Given the description of an element on the screen output the (x, y) to click on. 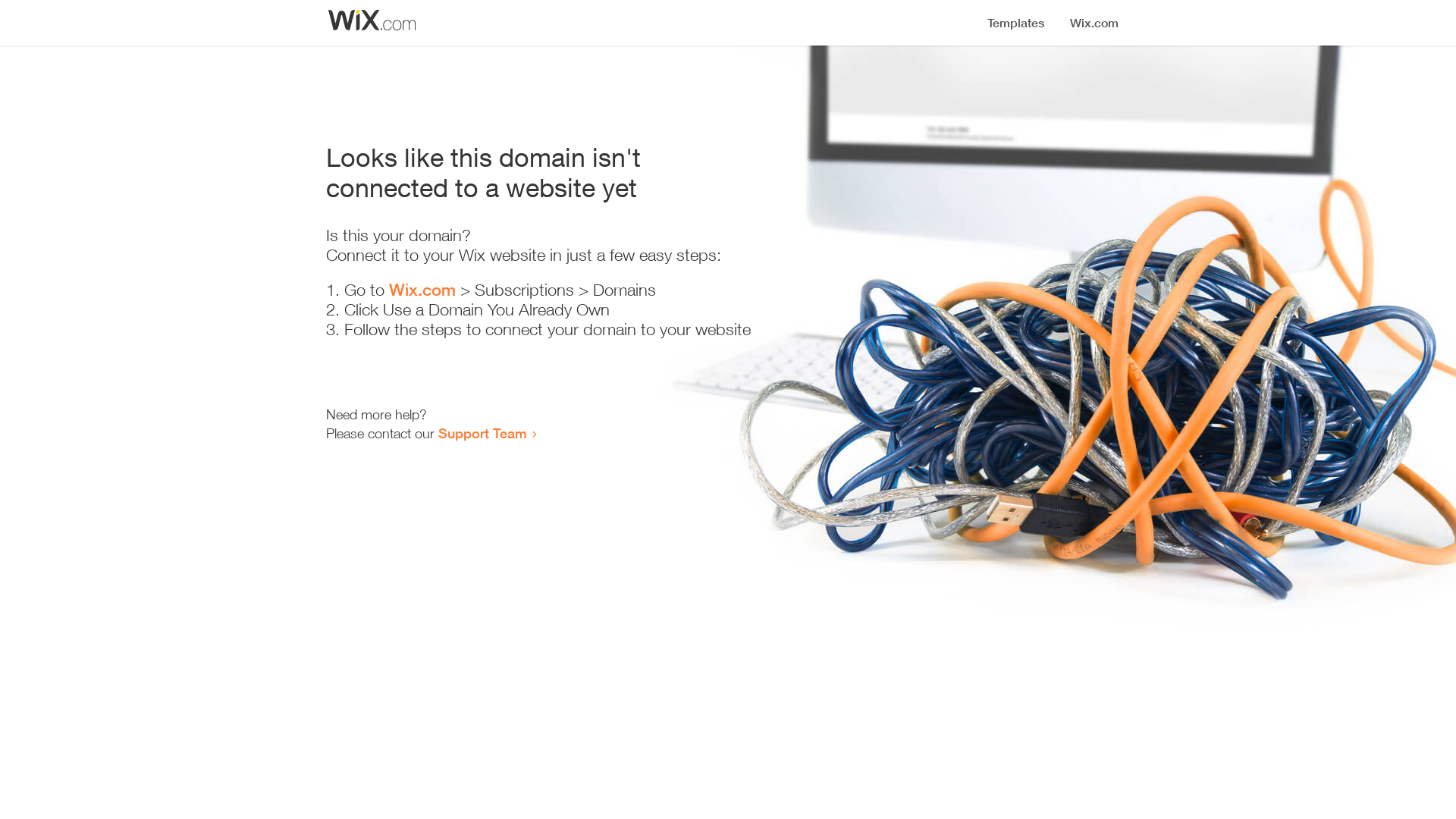
Support Team Element type: text (482, 432)
Wix.com Element type: text (422, 289)
